Given the description of an element on the screen output the (x, y) to click on. 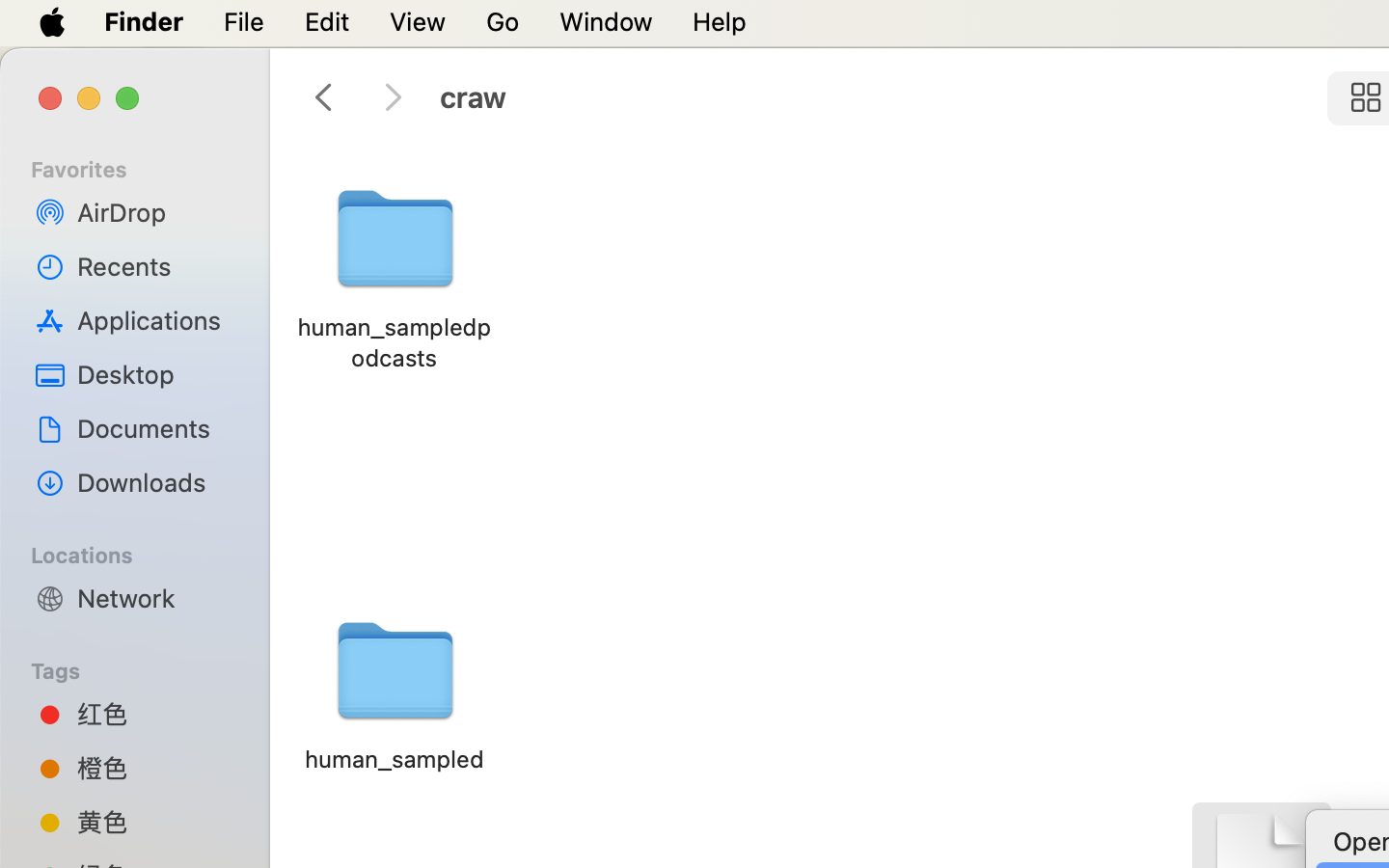
craw Element type: AXStaticText (875, 98)
Recents Element type: AXStaticText (155, 265)
橙色 Element type: AXStaticText (155, 767)
Documents Element type: AXStaticText (155, 427)
